Given the description of an element on the screen output the (x, y) to click on. 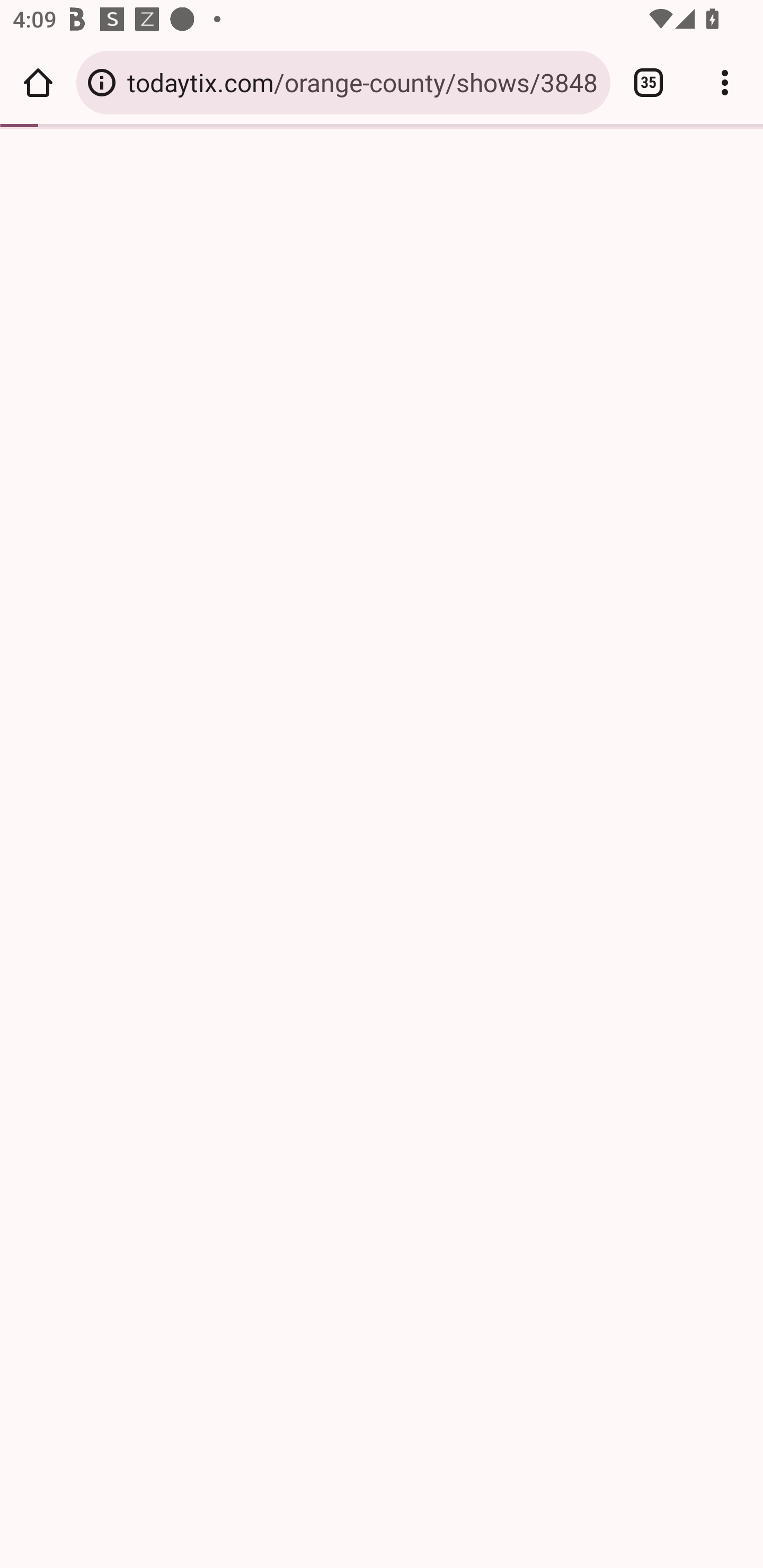
Open the home page (38, 82)
Your connection to this site is not secure (101, 82)
Switch or close tabs (648, 82)
Customize and control Google Chrome (724, 82)
todaytix.com/orange-county/shows/38481 (362, 82)
